Given the description of an element on the screen output the (x, y) to click on. 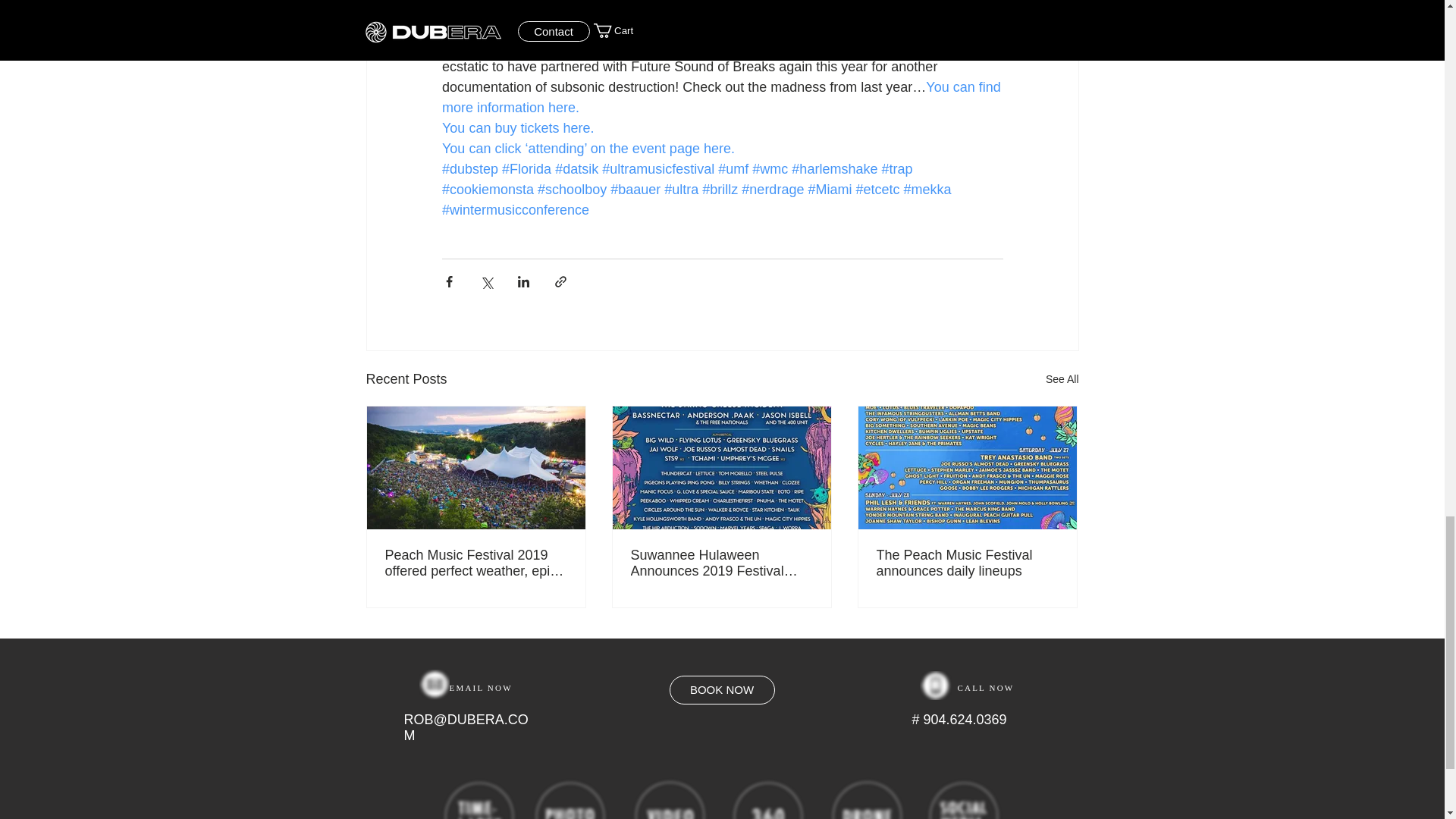
You can buy tickets here. (516, 127)
See All (1061, 379)
You can find more information here. (722, 97)
Suwannee Hulaween Announces 2019 Festival Lineup! (721, 563)
